Given the description of an element on the screen output the (x, y) to click on. 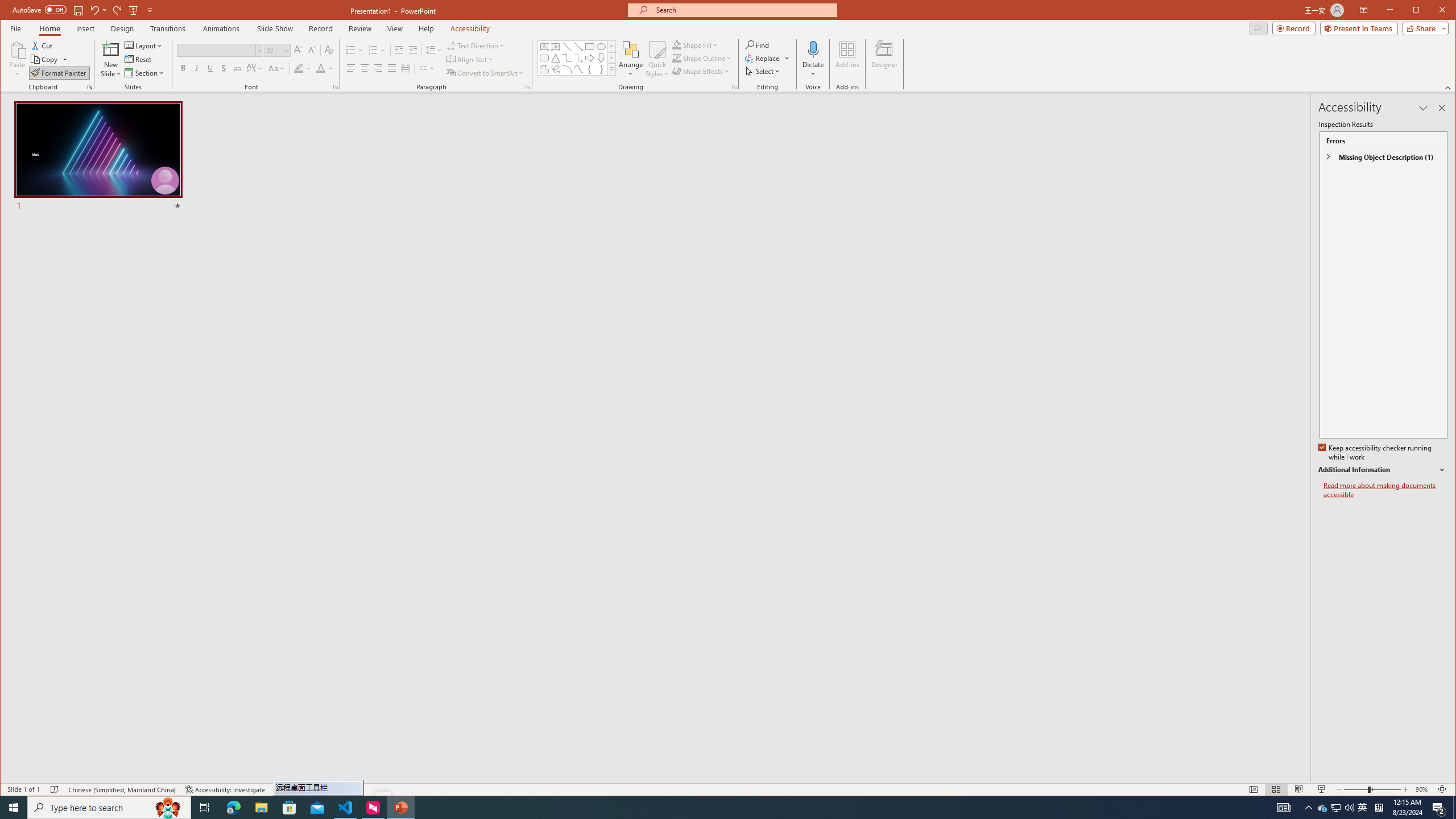
Running applications (700, 807)
